Given the description of an element on the screen output the (x, y) to click on. 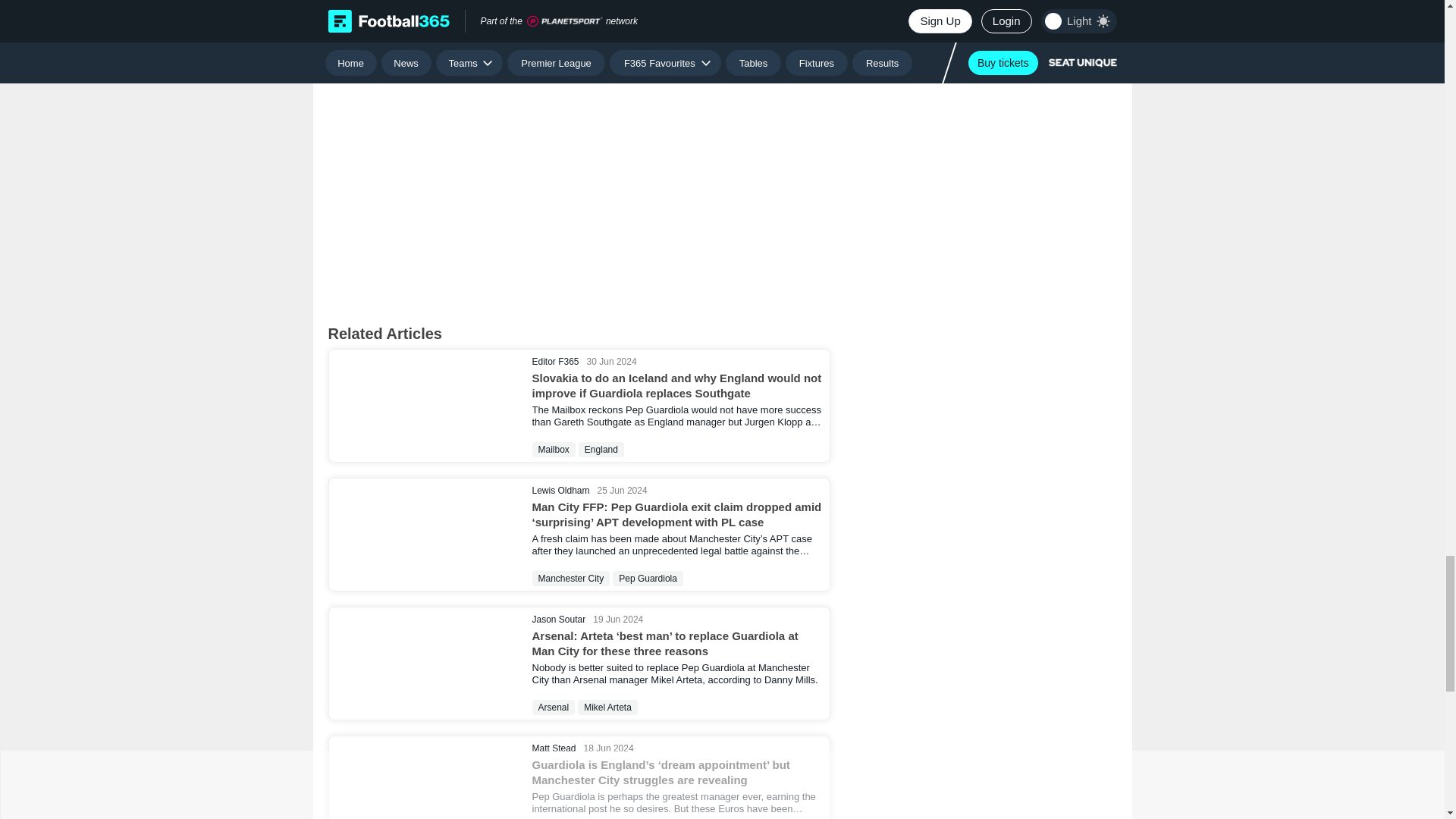
3rd party ad content (578, 14)
Vuukle Comments Widget (578, 186)
